Given the description of an element on the screen output the (x, y) to click on. 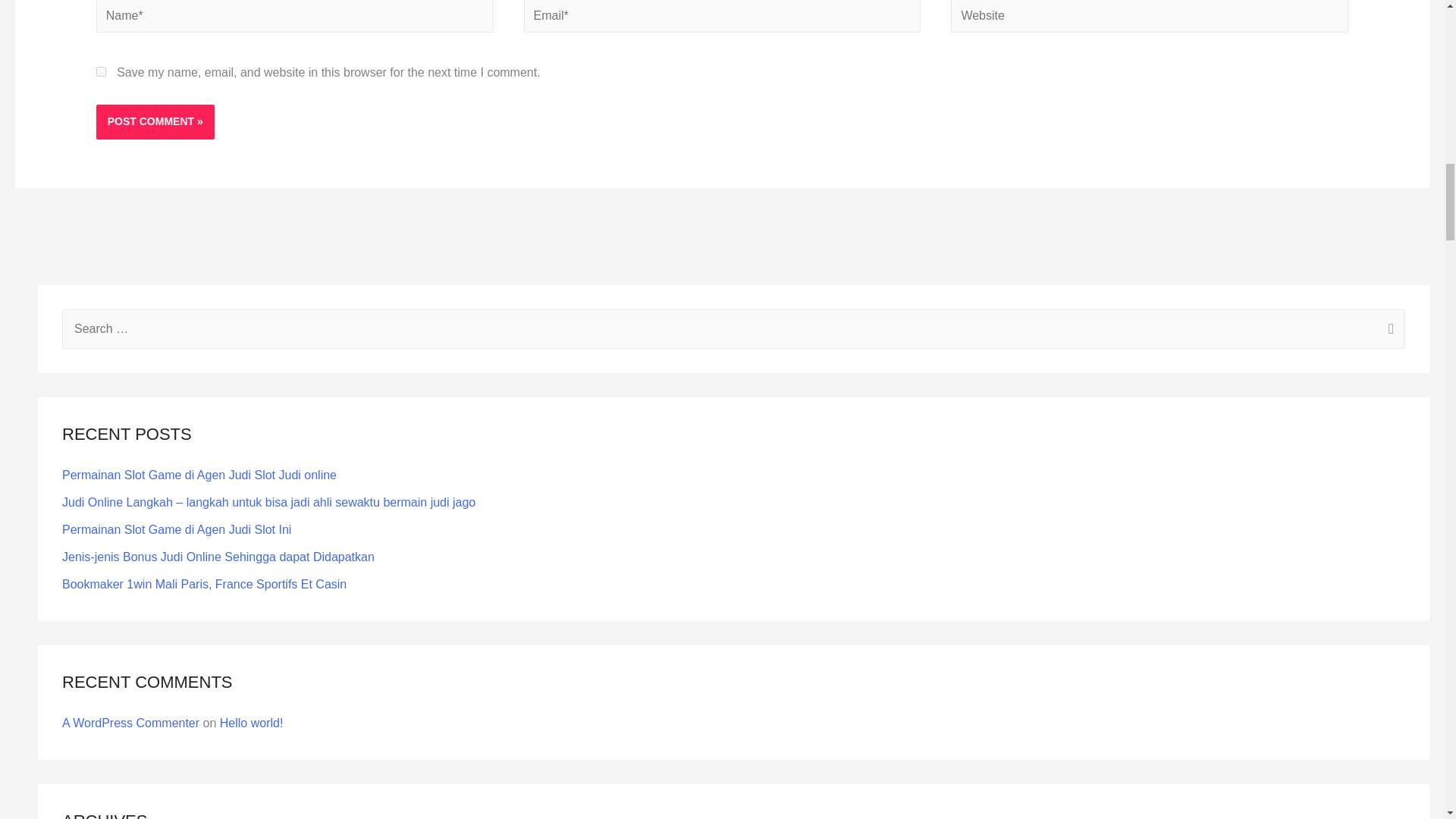
A WordPress Commenter (130, 722)
Permainan Slot Game di Agen Judi Slot Ini (176, 529)
Permainan Slot Game di Agen Judi Slot Judi online (199, 474)
yes (101, 71)
Hello world! (251, 722)
Jenis-jenis Bonus Judi Online Sehingga dapat Didapatkan (218, 556)
Bookmaker 1win Mali Paris, France Sportifs Et Casin (204, 584)
